Given the description of an element on the screen output the (x, y) to click on. 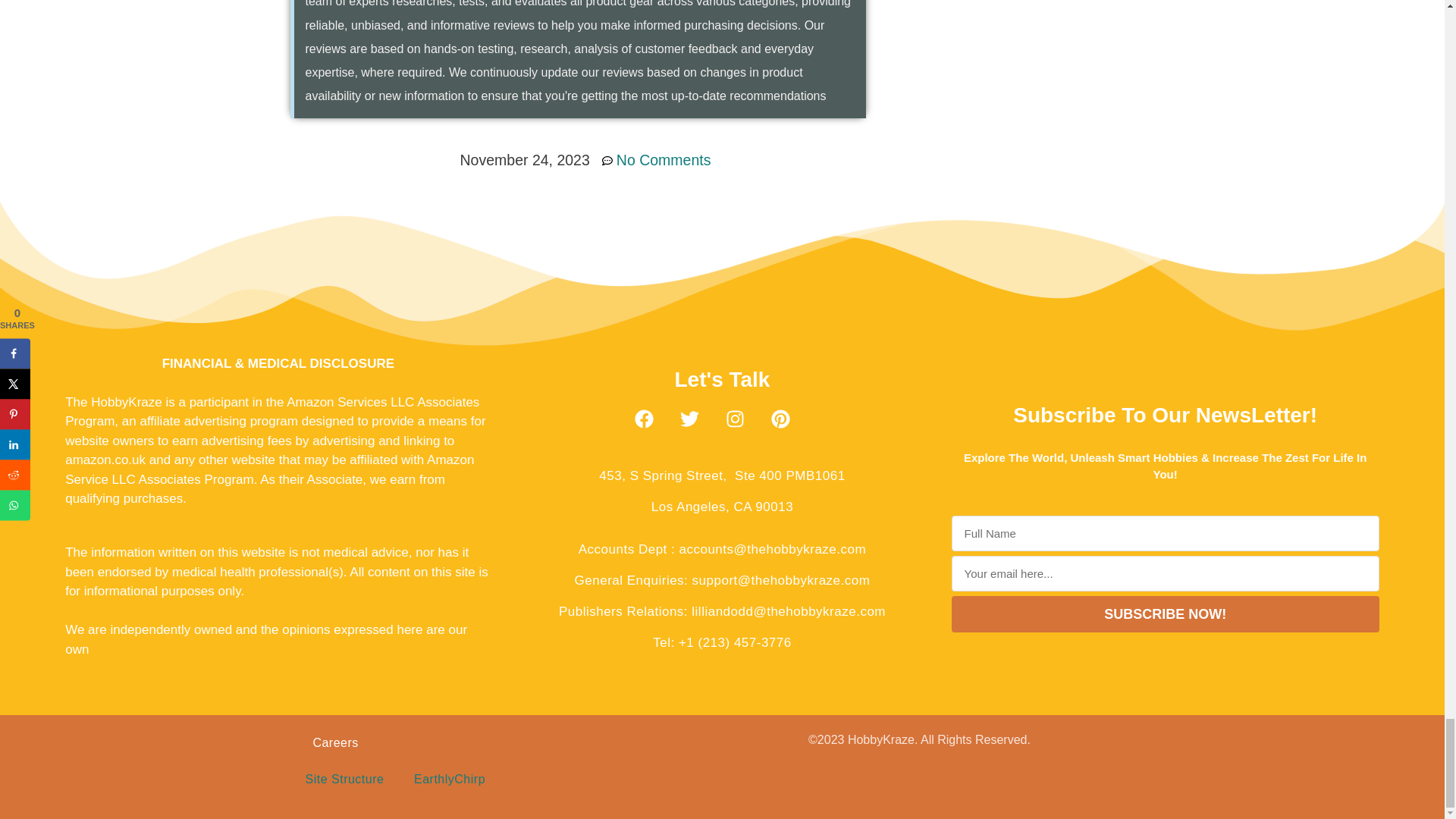
SUBSCRIBE NOW! (1165, 614)
No Comments (656, 159)
Careers (333, 742)
